Given the description of an element on the screen output the (x, y) to click on. 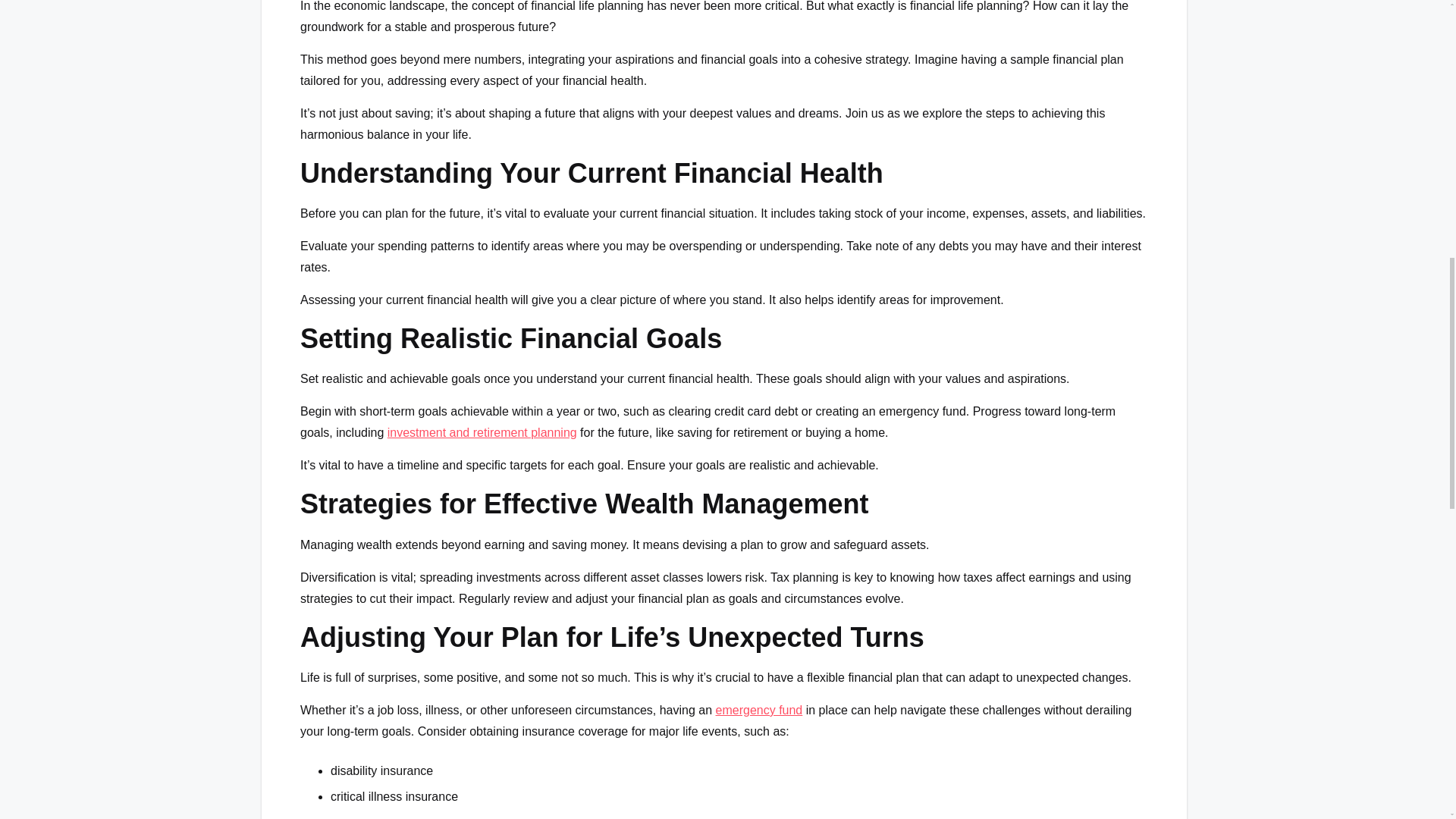
emergency fund (759, 709)
investment and retirement planning (481, 431)
